Given the description of an element on the screen output the (x, y) to click on. 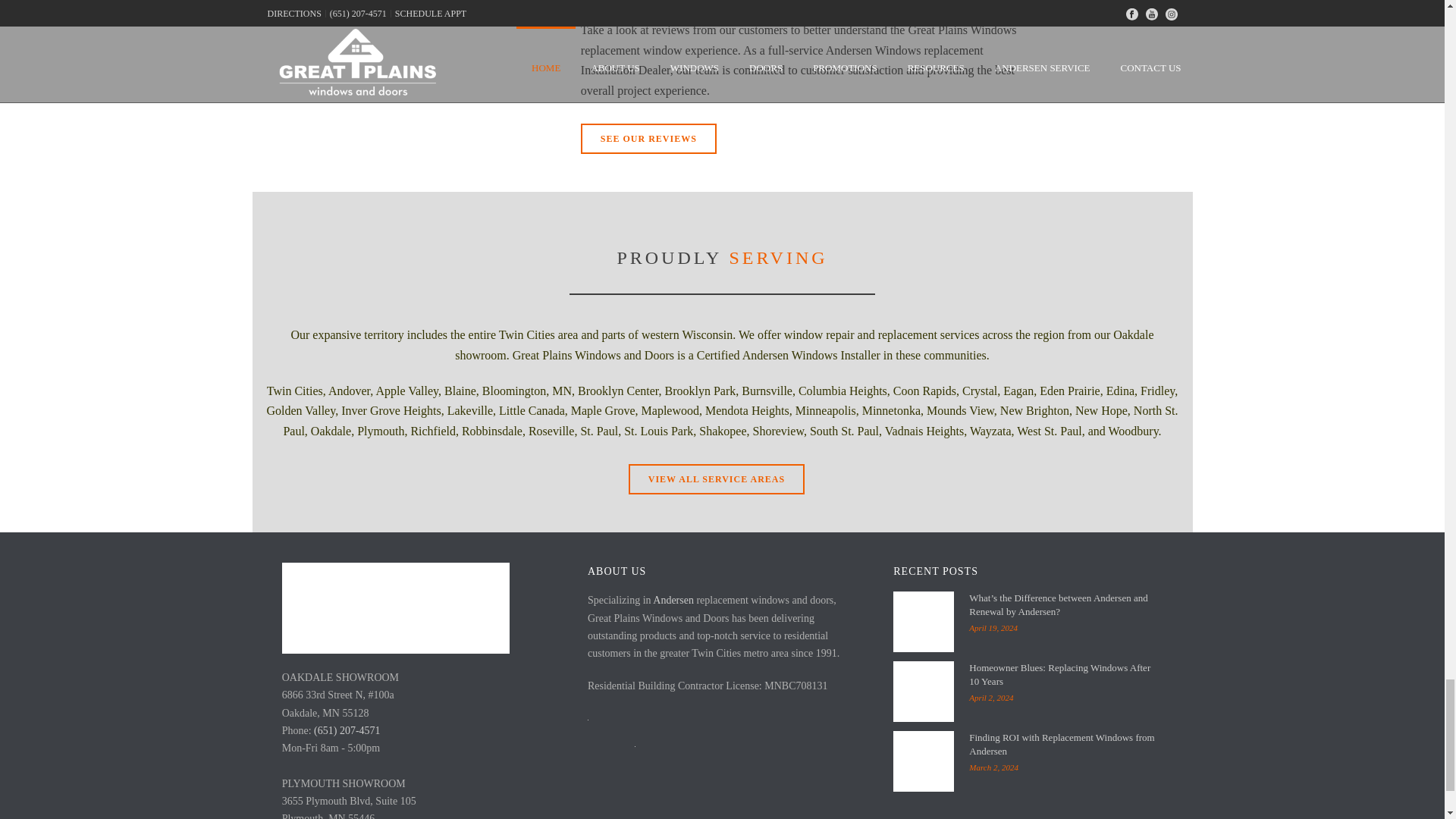
SEE OUR REVIEWS (648, 138)
Homeowner Blues: Replacing Windows After 10 Years (923, 690)
google-review-logo (492, 57)
VIEW ALL SERVICE AREAS (716, 479)
